Given the description of an element on the screen output the (x, y) to click on. 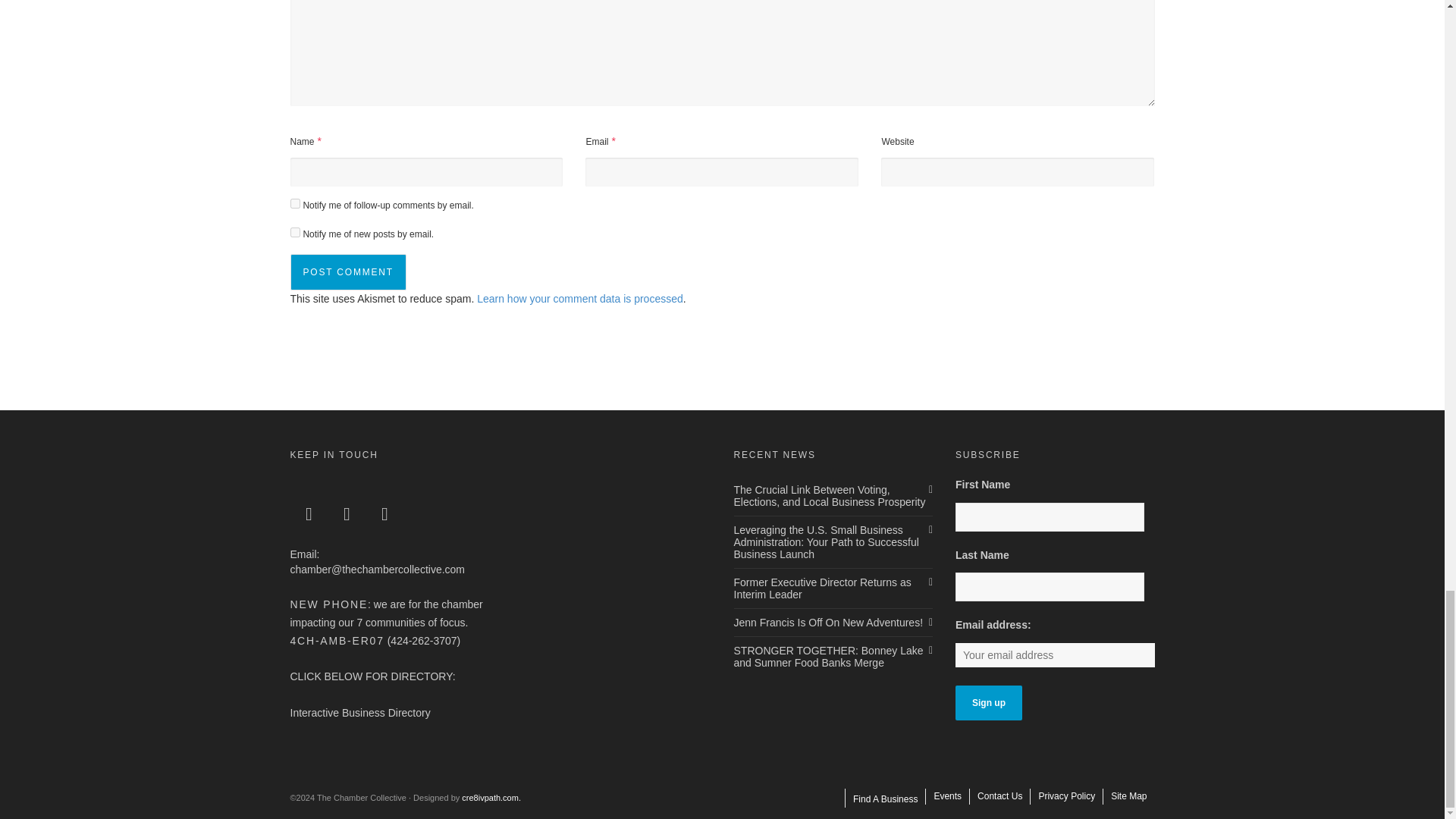
subscribe (294, 232)
Post comment (347, 271)
subscribe (294, 203)
Sign up (988, 702)
